Given the description of an element on the screen output the (x, y) to click on. 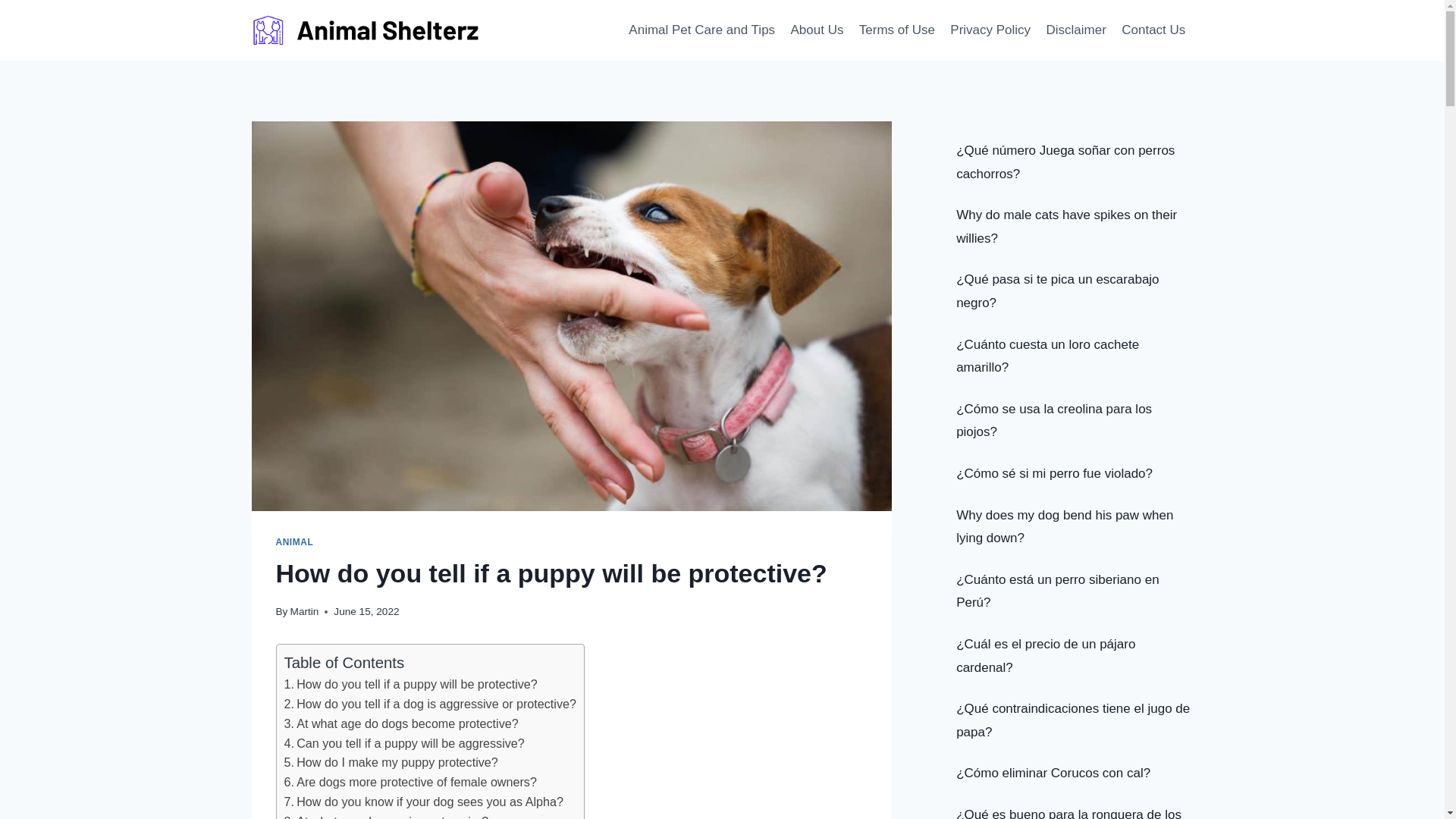
About Us (816, 30)
Martin (303, 611)
How do I make my puppy protective? (390, 762)
How do you tell if a puppy will be protective? (410, 684)
How do you tell if a dog is aggressive or protective? (429, 703)
Can you tell if a puppy will be aggressive? (403, 743)
Are dogs more protective of female owners? (409, 781)
At what age do dogs become protective? (400, 723)
Can you tell if a puppy will be aggressive? (403, 743)
Animal Pet Care and Tips (702, 30)
At what age do dogs become protective? (400, 723)
How do you tell if a dog is aggressive or protective? (429, 703)
At what age do puppies get easier? (385, 816)
Why do male cats have spikes on their willies? (1066, 226)
At what age do puppies get easier? (385, 816)
